Given the description of an element on the screen output the (x, y) to click on. 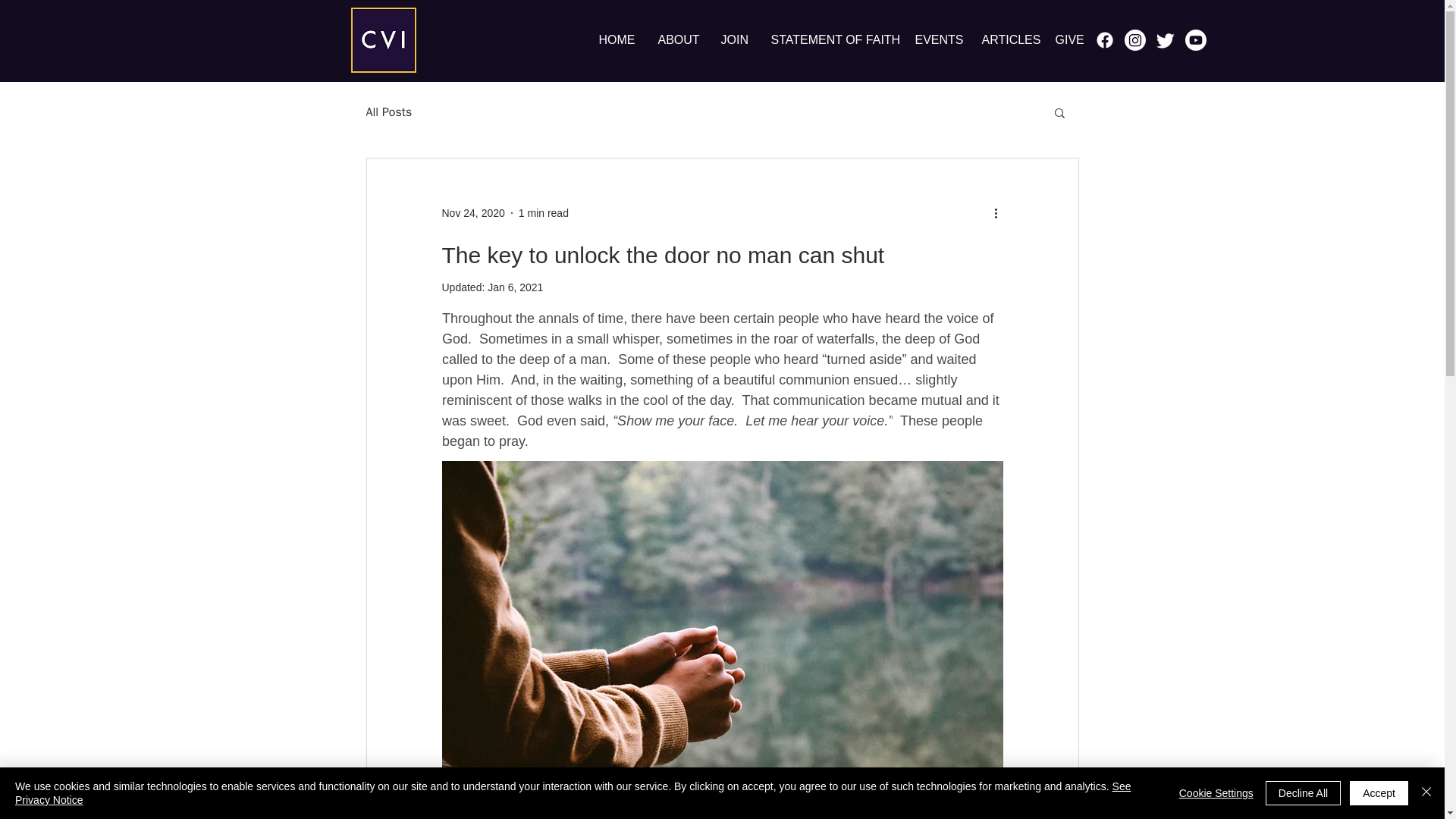
EVENTS (937, 39)
HOME (616, 39)
Decline All (1302, 793)
STATEMENT OF FAITH (832, 39)
ABOUT (677, 39)
ARTICLES (1007, 39)
See Privacy Notice (572, 792)
JOIN (735, 39)
GIVE (1068, 39)
Nov 24, 2020 (472, 212)
Accept (1378, 793)
All Posts (388, 112)
Jan 6, 2021 (515, 287)
1 min read (543, 212)
